Given the description of an element on the screen output the (x, y) to click on. 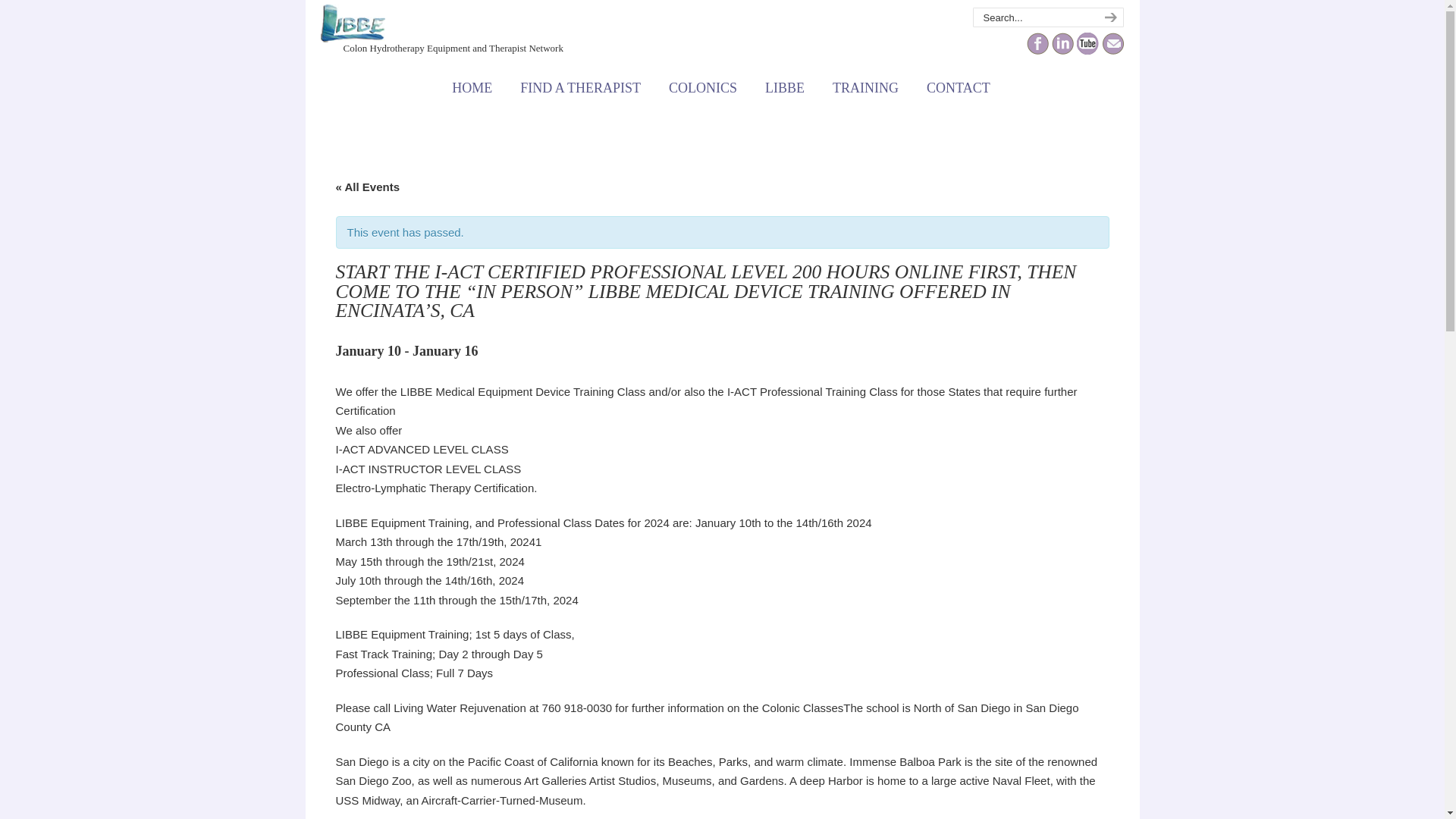
search (1108, 17)
search (1108, 17)
TRAINING (865, 88)
HOME (471, 88)
COLONICS (702, 88)
search (1108, 17)
CONTACT (958, 88)
FIND A THERAPIST (580, 88)
LIBBE (784, 88)
Search... (1032, 17)
